Given the description of an element on the screen output the (x, y) to click on. 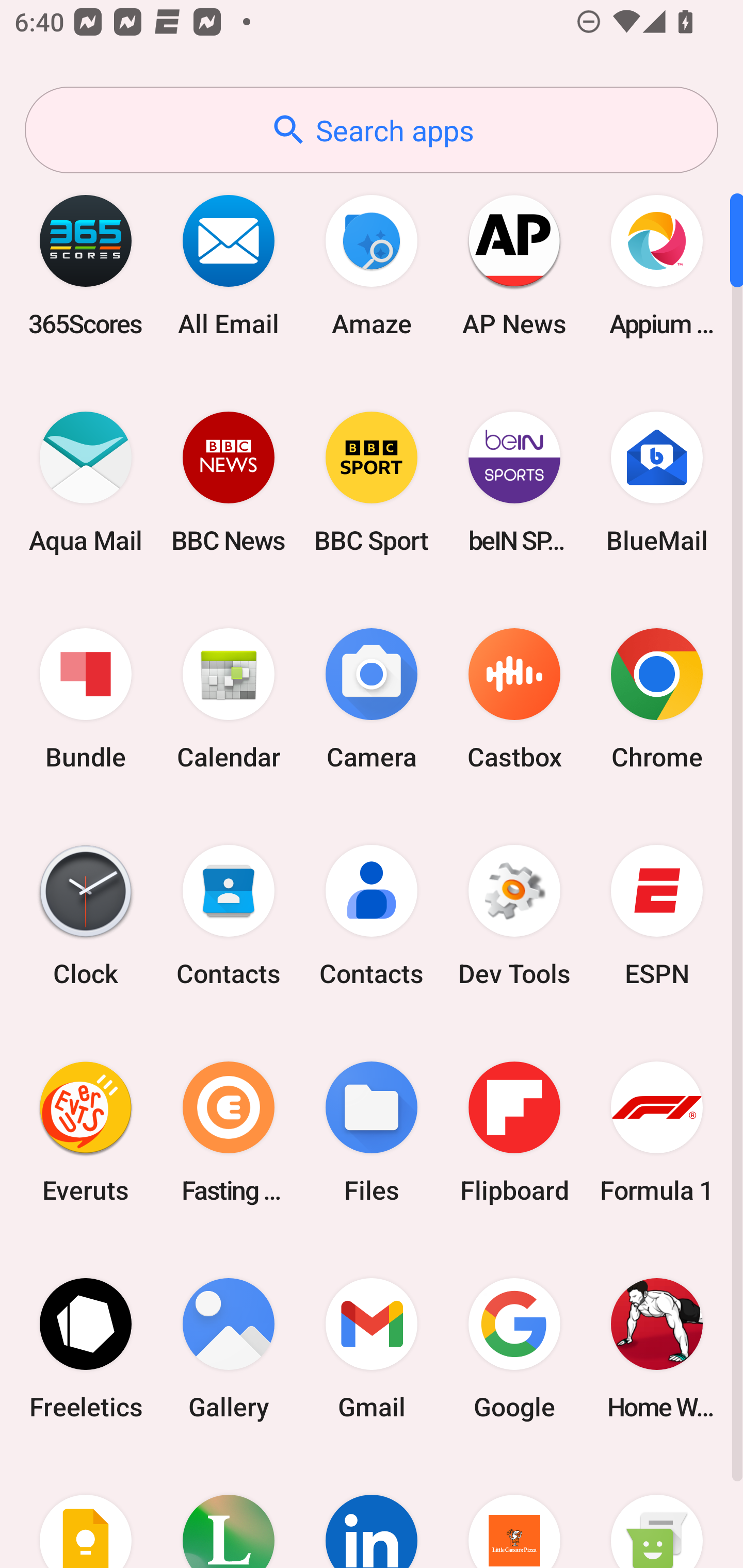
  Search apps (371, 130)
365Scores (85, 264)
All Email (228, 264)
Amaze (371, 264)
AP News (514, 264)
Appium Settings (656, 264)
Aqua Mail (85, 482)
BBC News (228, 482)
BBC Sport (371, 482)
beIN SPORTS (514, 482)
BlueMail (656, 482)
Bundle (85, 699)
Calendar (228, 699)
Camera (371, 699)
Castbox (514, 699)
Chrome (656, 699)
Clock (85, 915)
Contacts (228, 915)
Contacts (371, 915)
Dev Tools (514, 915)
ESPN (656, 915)
Everuts (85, 1131)
Fasting Coach (228, 1131)
Files (371, 1131)
Flipboard (514, 1131)
Formula 1 (656, 1131)
Freeletics (85, 1348)
Gallery (228, 1348)
Gmail (371, 1348)
Google (514, 1348)
Home Workout (656, 1348)
